Given the description of an element on the screen output the (x, y) to click on. 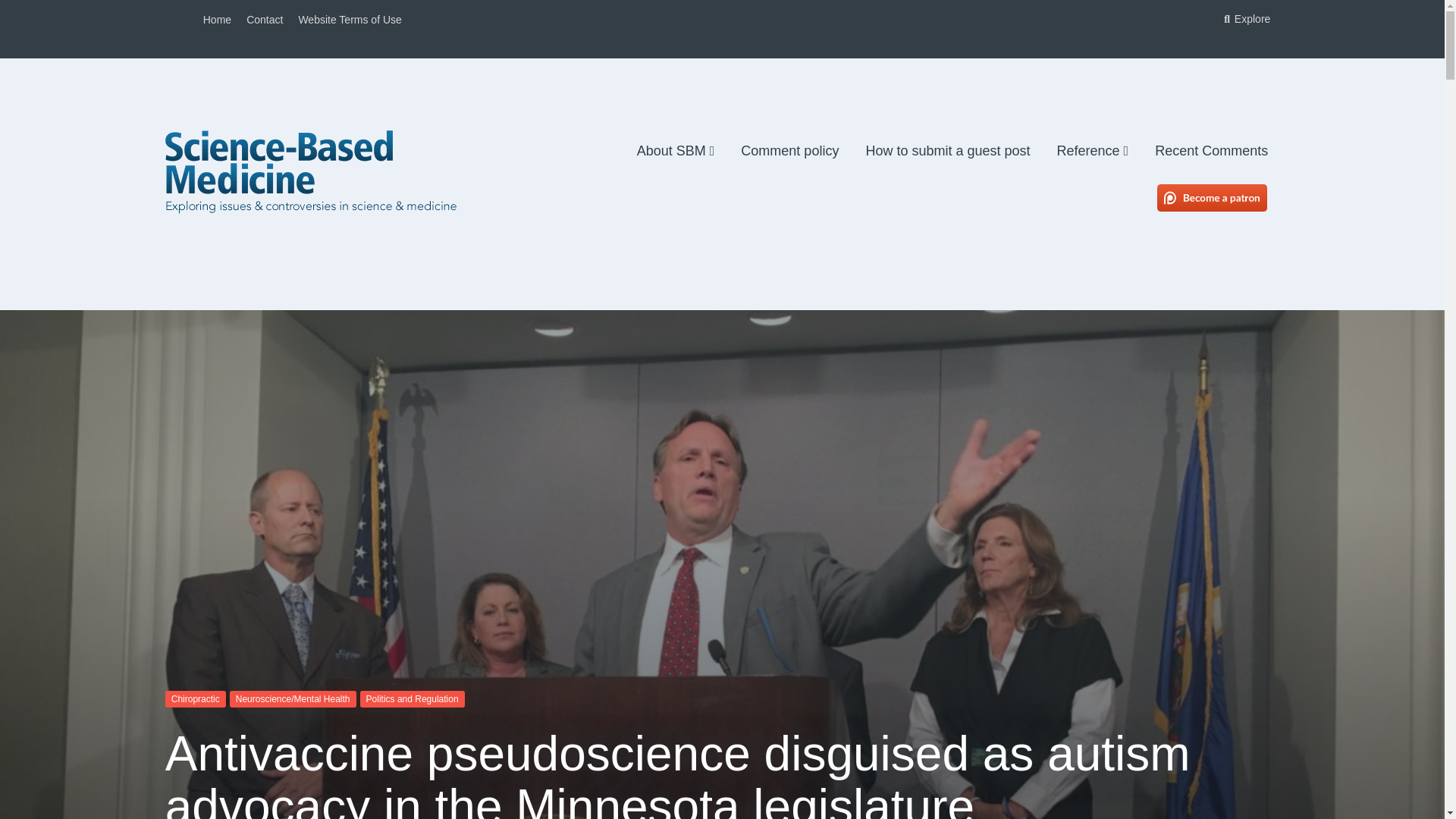
Contact (264, 19)
Home (217, 19)
Website Terms of Use (349, 19)
